Given the description of an element on the screen output the (x, y) to click on. 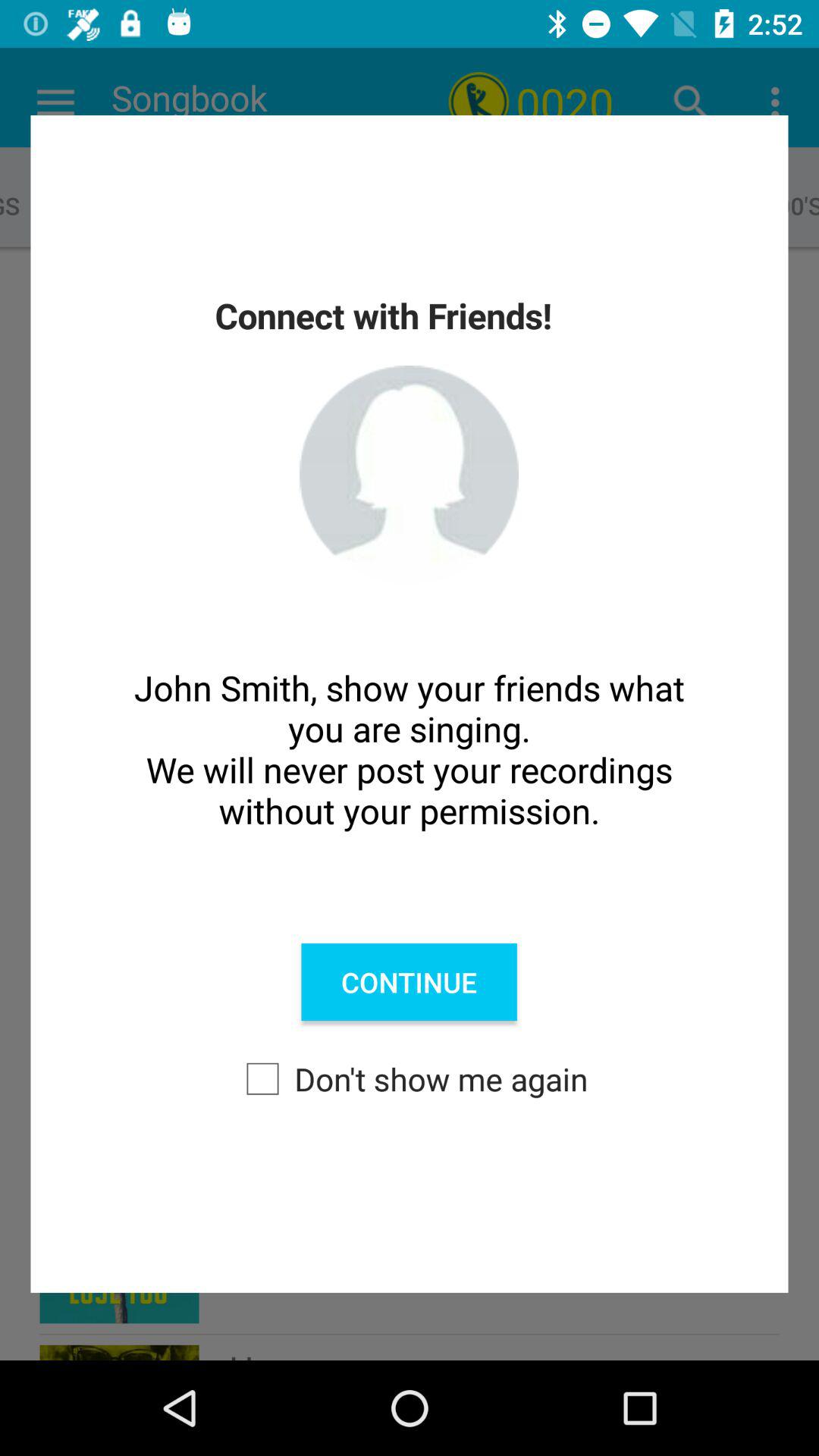
jump to the continue item (408, 981)
